Given the description of an element on the screen output the (x, y) to click on. 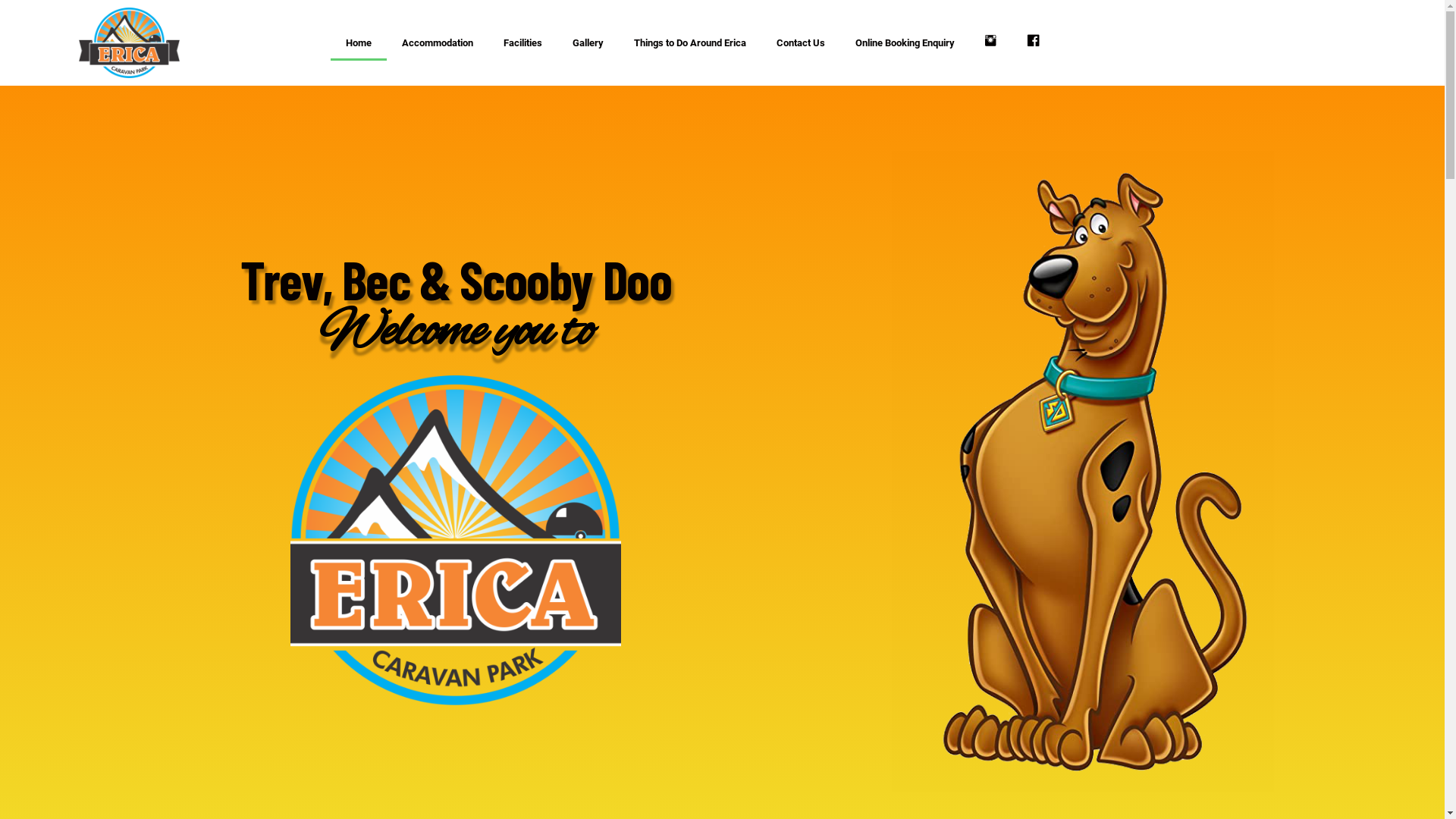
Facilities Element type: text (522, 42)
Instagram Element type: text (989, 42)
Home Element type: text (358, 42)
Accommodation Element type: text (437, 42)
Online Booking Enquiry Element type: text (904, 42)
Gallery Element type: text (587, 42)
Facebook Element type: text (1033, 42)
Contact Us Element type: text (800, 42)
Things to Do Around Erica Element type: text (689, 42)
